Given the description of an element on the screen output the (x, y) to click on. 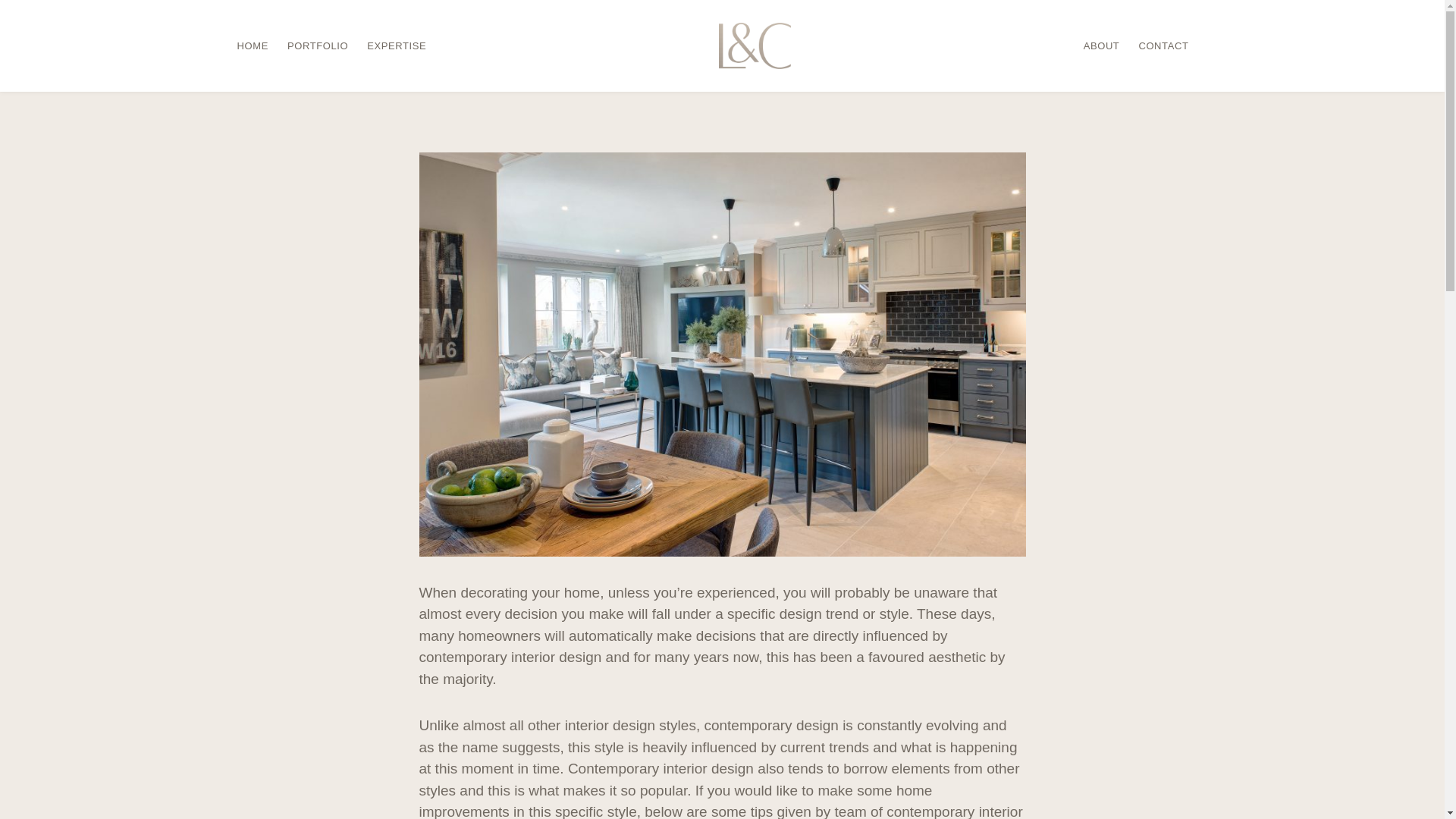
CONTACT (1163, 46)
HOME (251, 46)
ABOUT (1101, 46)
EXPERTISE (396, 46)
PORTFOLIO (316, 46)
